Given the description of an element on the screen output the (x, y) to click on. 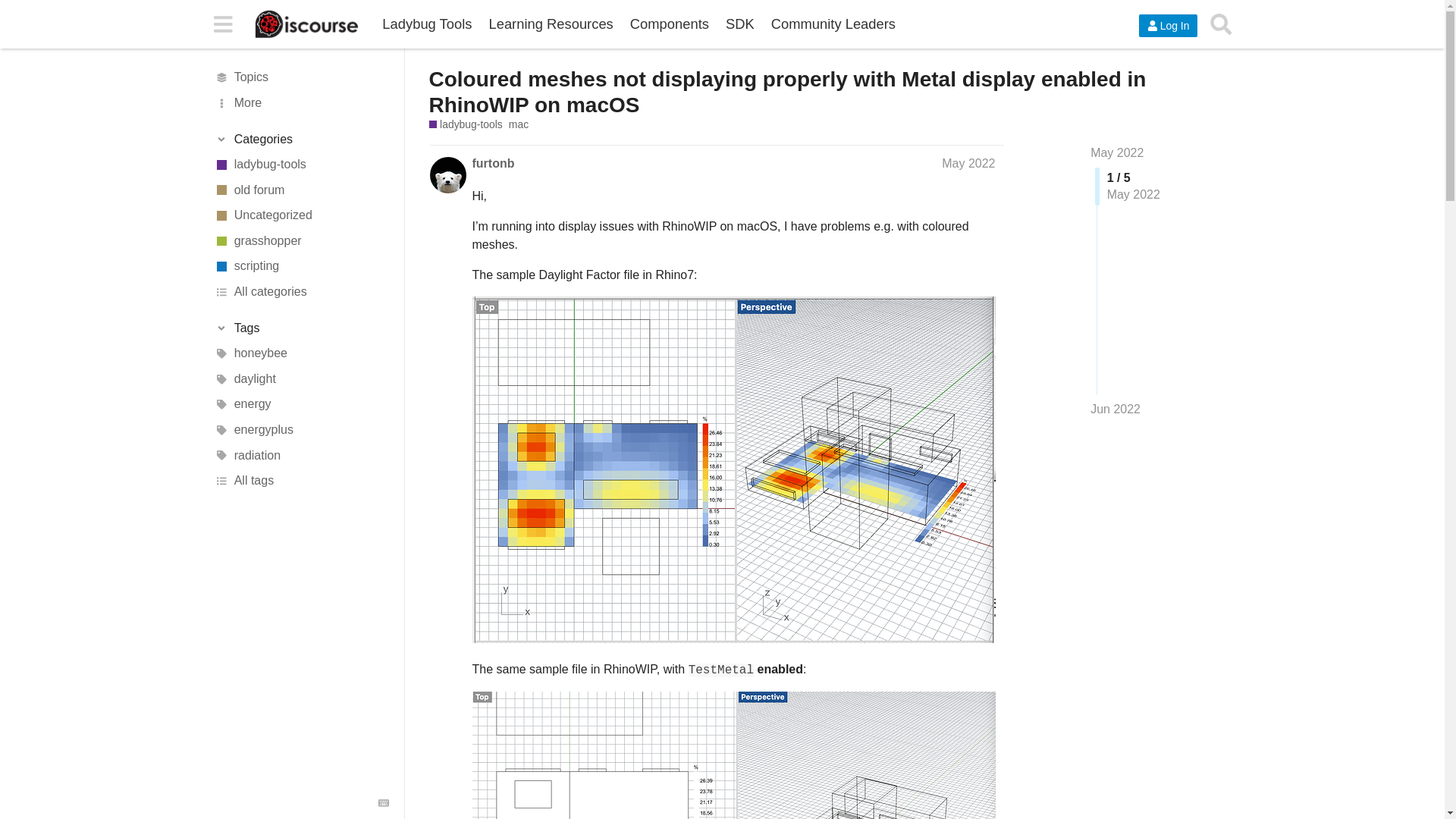
grasshopper (301, 240)
furtonb (492, 162)
Ladybug Tools Website (427, 23)
Sidebar (222, 23)
All topics (301, 77)
radiation (301, 455)
May 2022 (968, 162)
Components (669, 23)
energy (301, 404)
